Given the description of an element on the screen output the (x, y) to click on. 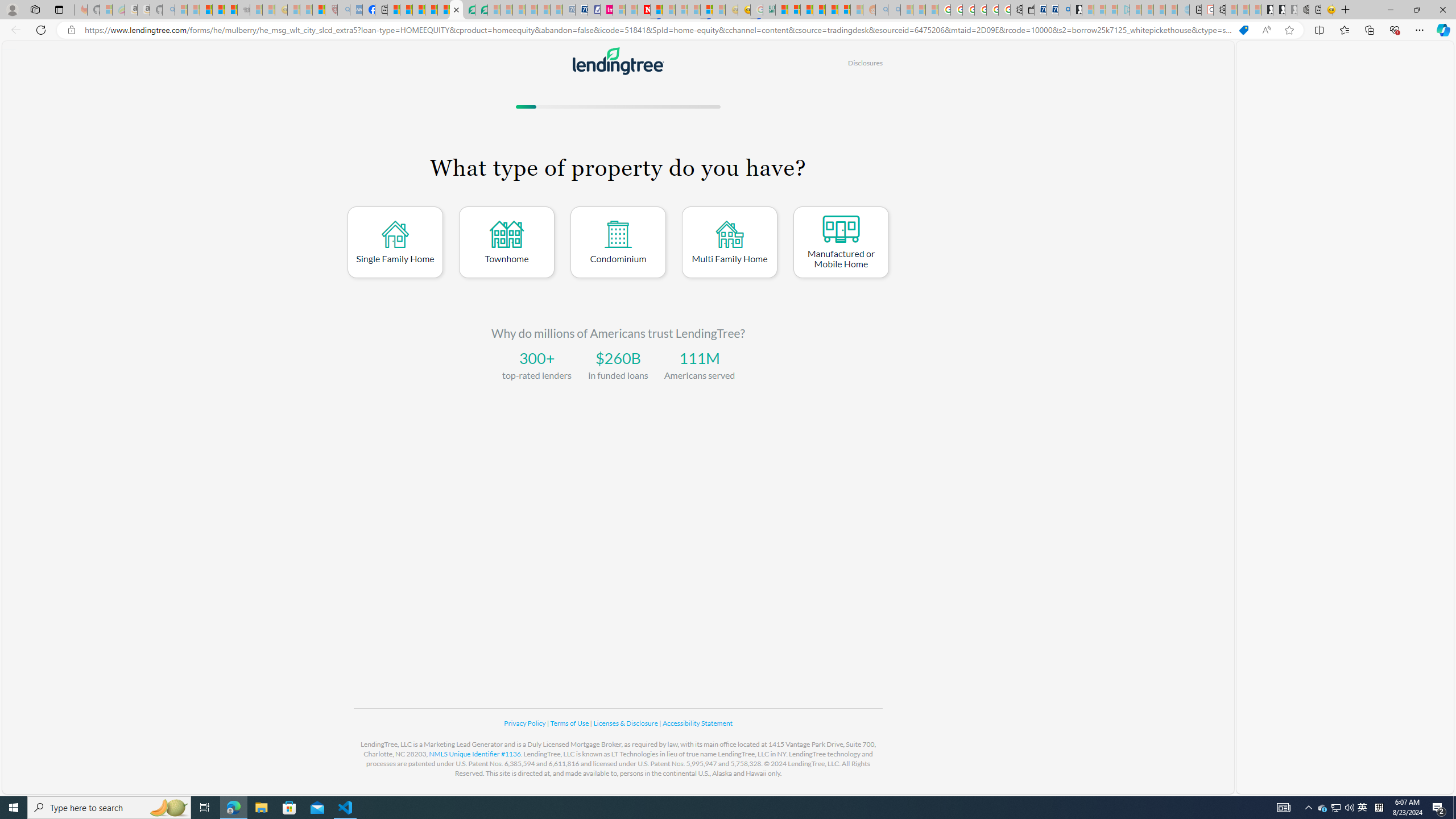
Wallet (1028, 9)
Pets - MSN (431, 9)
Microsoft Word - consumer-privacy address update 2.2021 (481, 9)
Cheap Hotels - Save70.com (581, 9)
